Given the description of an element on the screen output the (x, y) to click on. 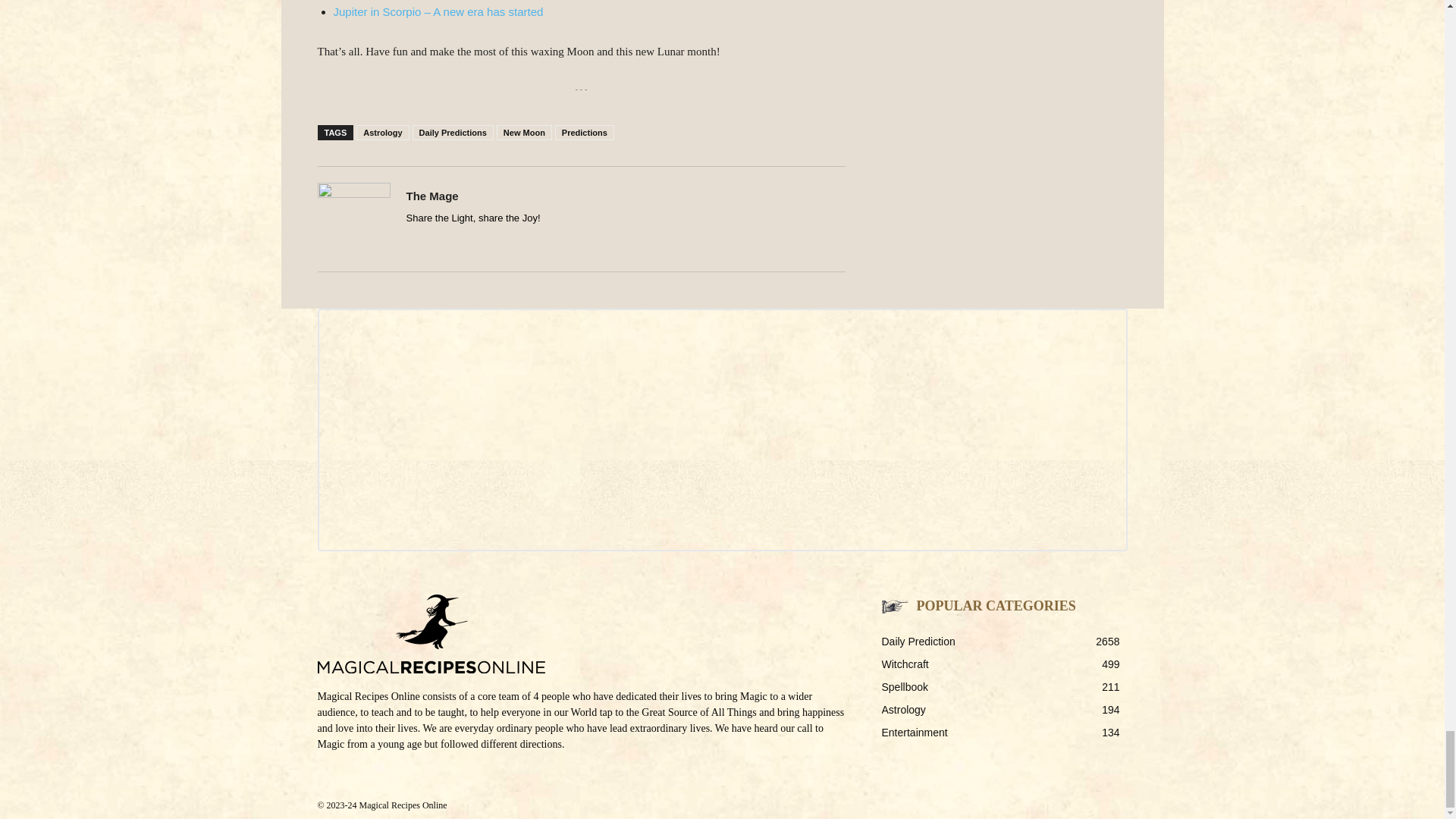
logo-mro (430, 633)
